Given the description of an element on the screen output the (x, y) to click on. 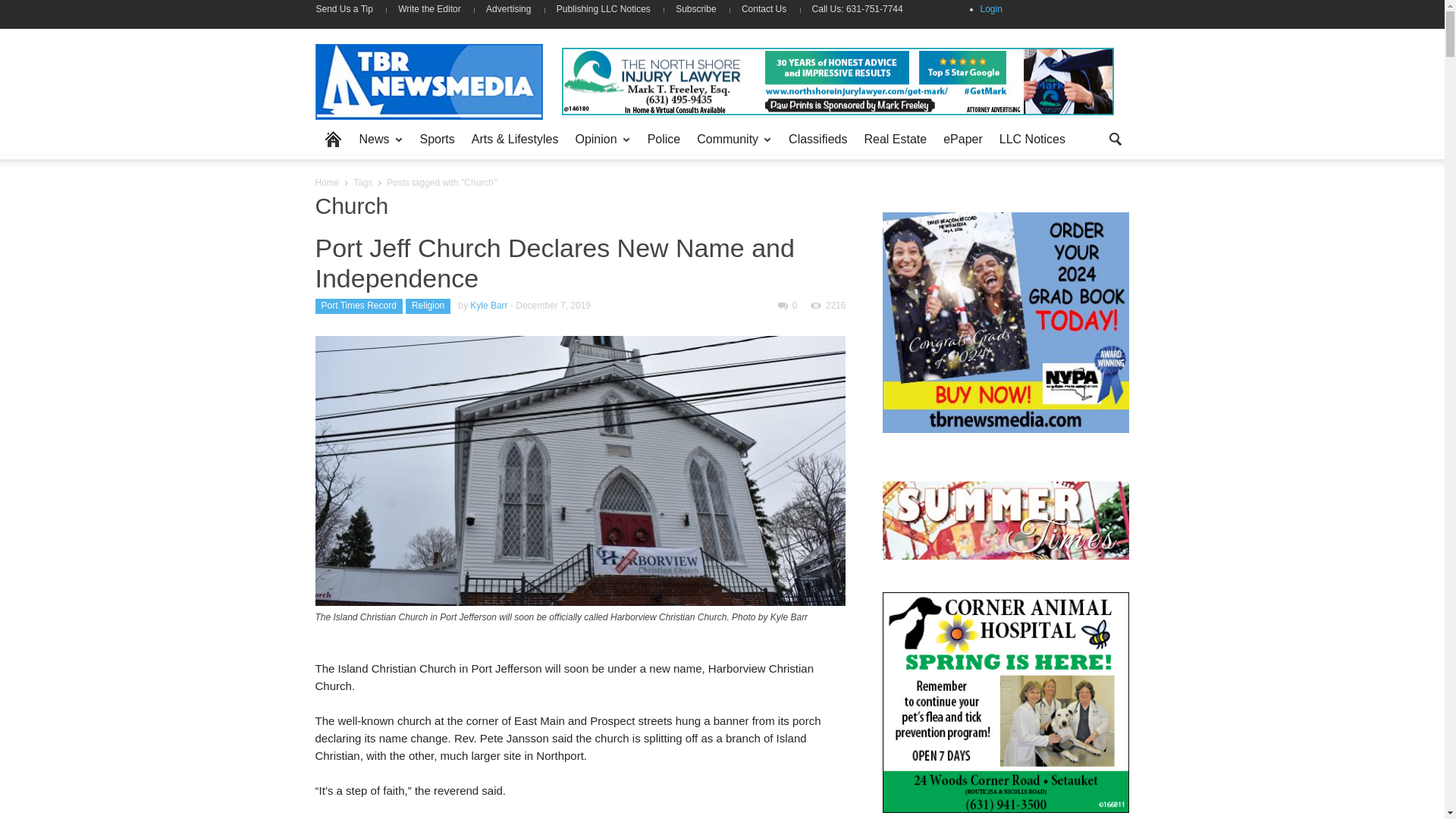
Write the Editor (429, 9)
Write the Editor (429, 9)
Mark Freeley (836, 80)
